Given the description of an element on the screen output the (x, y) to click on. 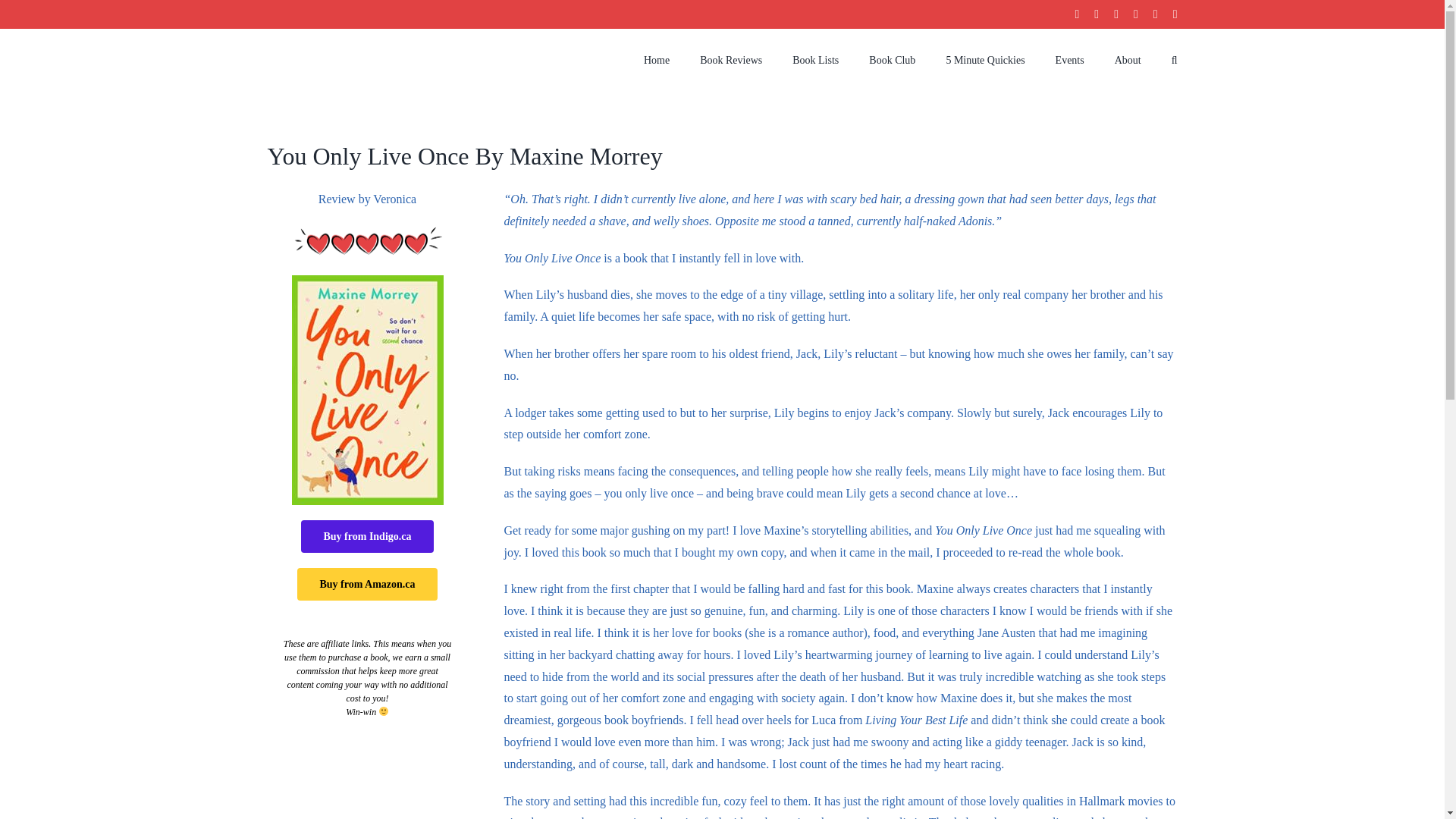
Book Reviews (730, 60)
5Hearts (366, 241)
5 Minute Quickies (984, 60)
Buy from Amazon.ca (366, 584)
Buy from Indigo.ca (366, 536)
